Given the description of an element on the screen output the (x, y) to click on. 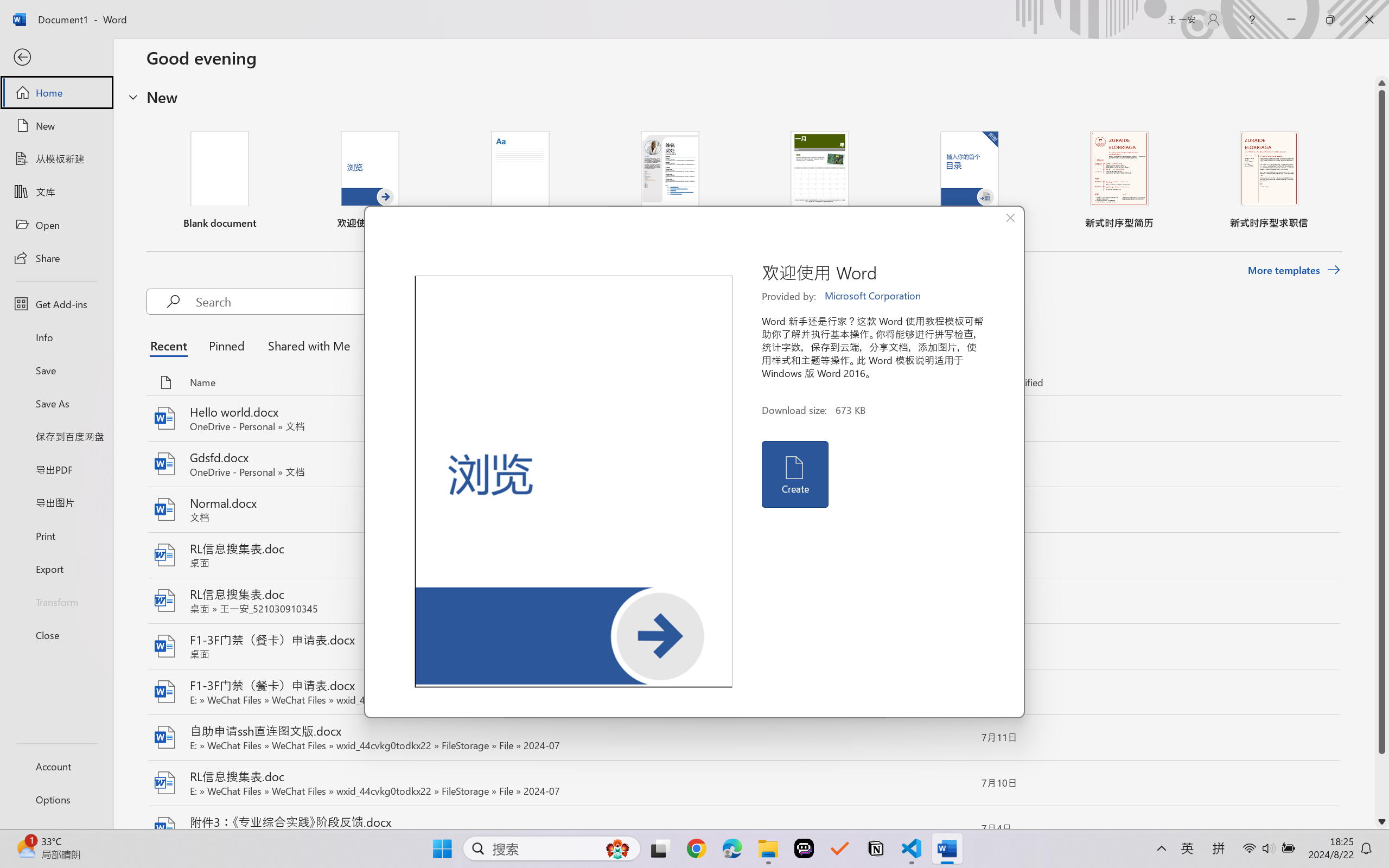
Line up (1382, 83)
